Given the description of an element on the screen output the (x, y) to click on. 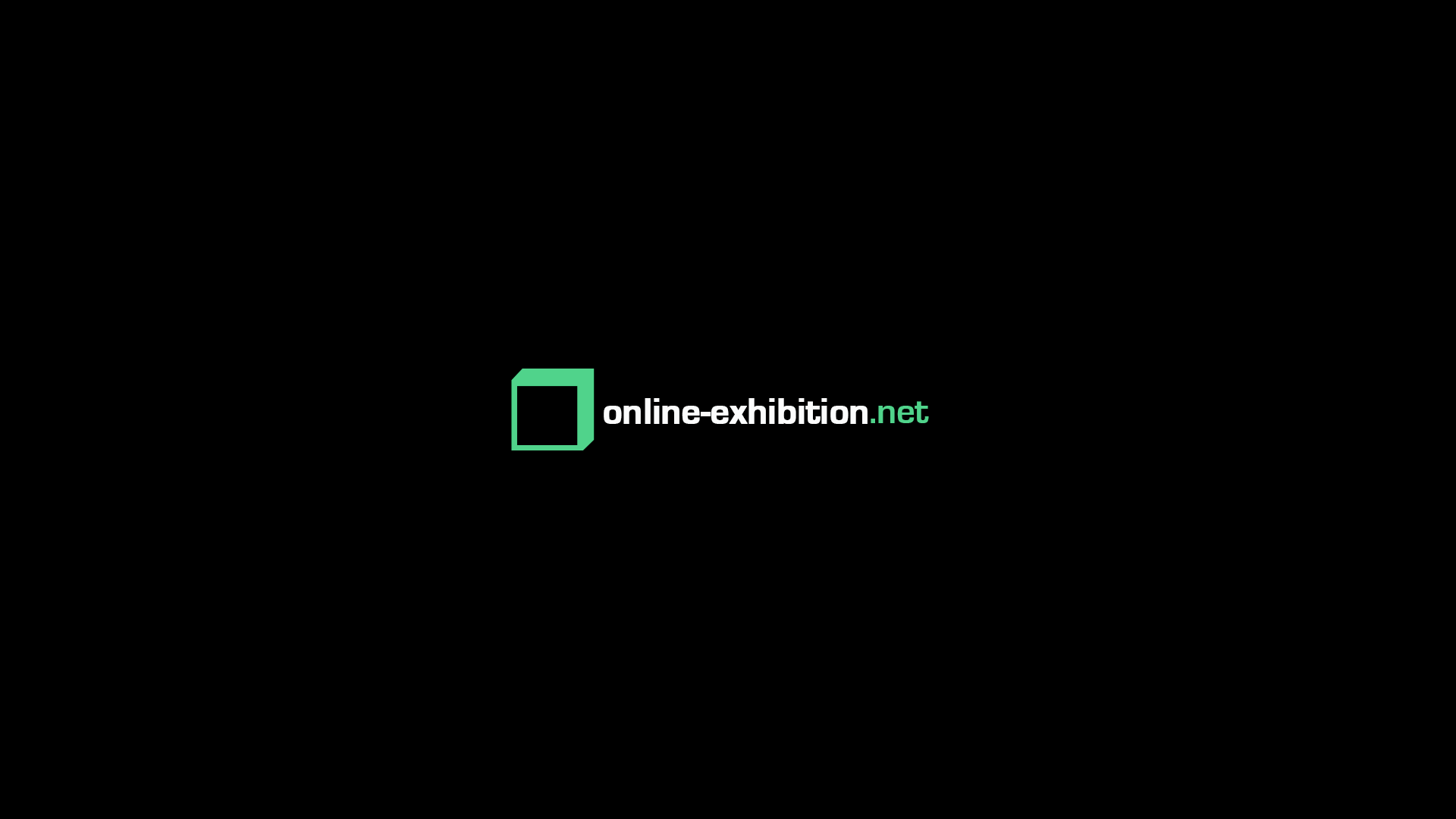
coming soon! Element type: hover (727, 409)
